Given the description of an element on the screen output the (x, y) to click on. 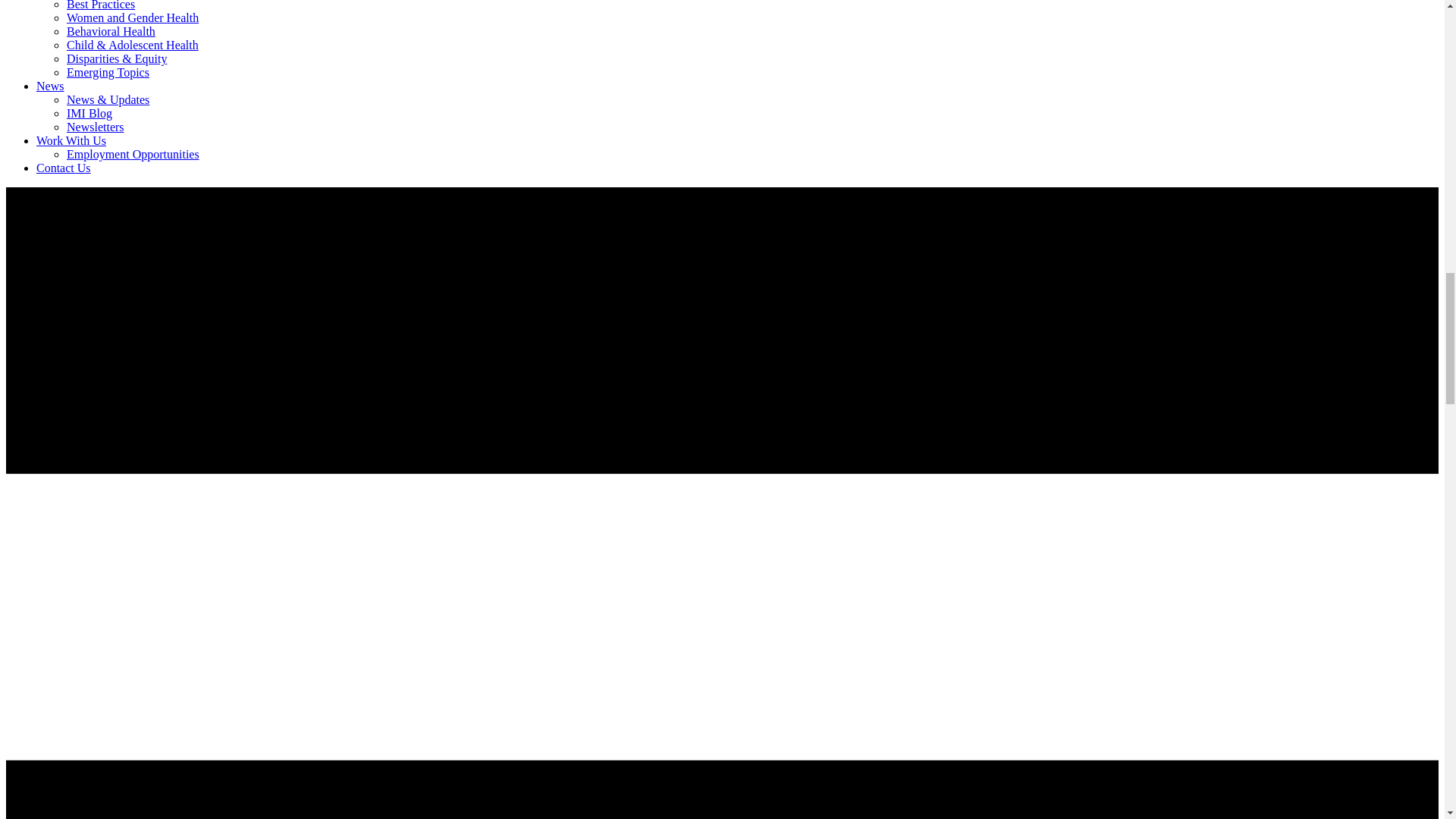
News (50, 85)
Contact Us (63, 167)
IMI Blog (89, 113)
Newsletters (94, 126)
Employment Opportunities (132, 154)
Women and Gender Health (132, 17)
Work With Us (71, 140)
Behavioral Health (110, 31)
Emerging Topics (107, 72)
Best Practices (100, 5)
